Given the description of an element on the screen output the (x, y) to click on. 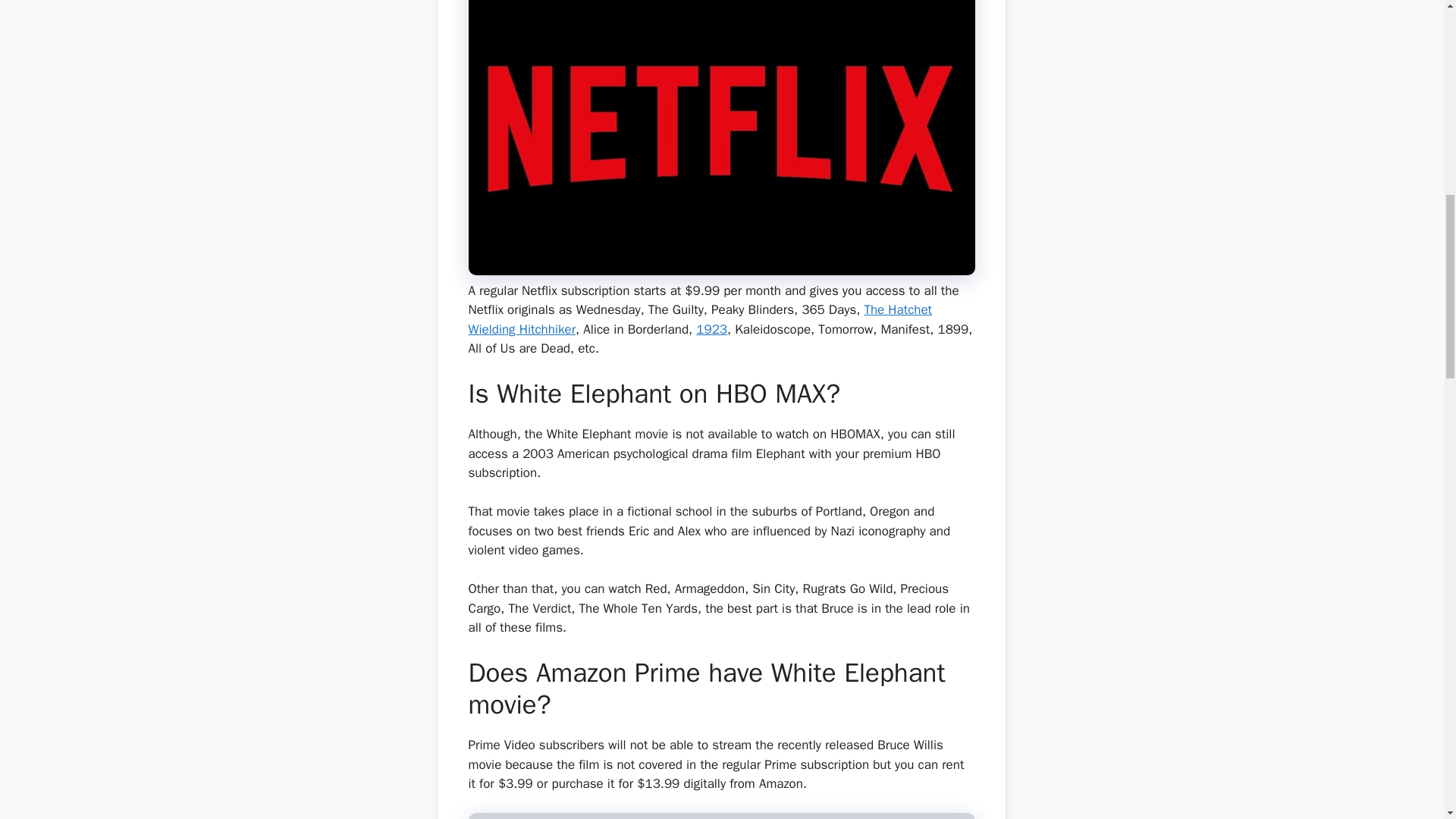
1923 (710, 329)
Is White Elephant on Netflix, Prime, or HBO MAX? (721, 816)
The Hatchet Wielding Hitchhiker (700, 319)
